Given the description of an element on the screen output the (x, y) to click on. 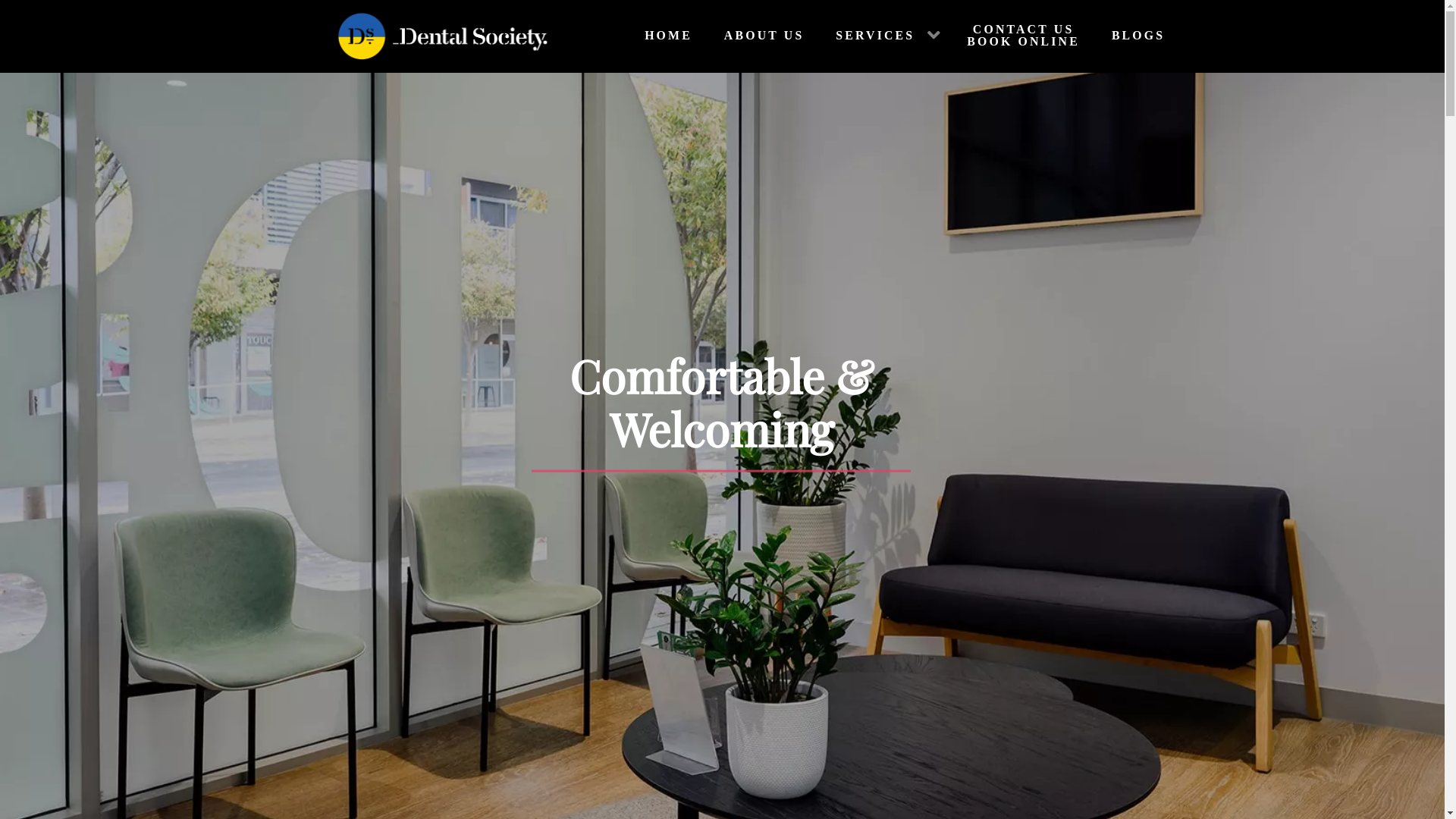
BLOGS Element type: text (1134, 36)
ABOUT US Element type: text (759, 36)
HOME Element type: text (664, 36)
CONTACT US
BOOK ONLINE Element type: text (1019, 36)
SERVICES Element type: text (881, 36)
BOOK ONLINE NOW Element type: text (721, 619)
